Given the description of an element on the screen output the (x, y) to click on. 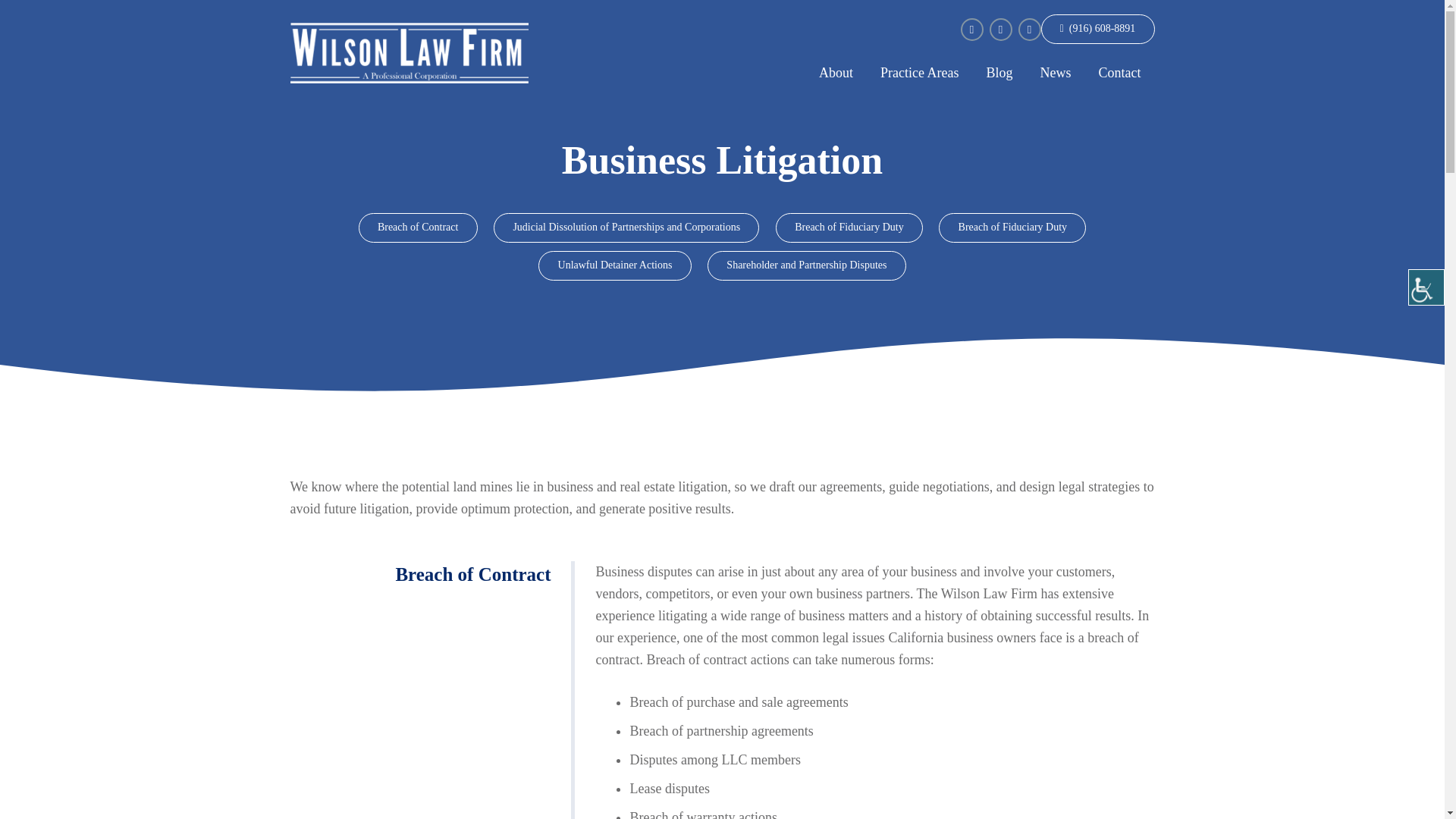
LinkedIn (1029, 29)
YouTube (999, 29)
About (835, 72)
Blog (999, 72)
Practice Areas (919, 72)
Facebook (970, 29)
